Given the description of an element on the screen output the (x, y) to click on. 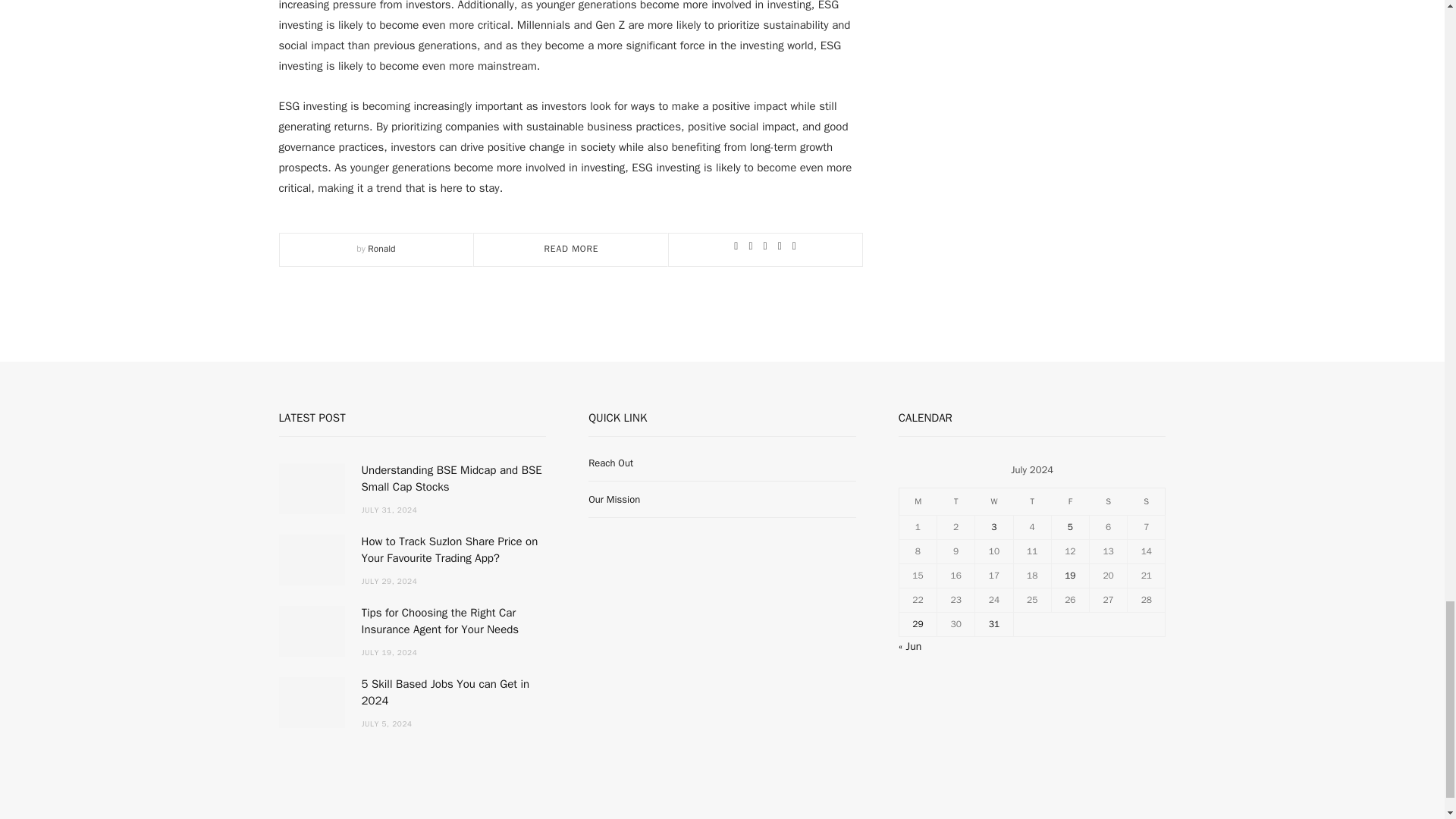
Email (794, 245)
Posts by Ronald (381, 248)
Ronald (381, 248)
5 Skill Based Jobs You can Get in 2024 (312, 702)
READ MORE (571, 248)
Share on Facebook (750, 245)
Share on Twitter (764, 245)
Understanding BSE Midcap and BSE Small Cap Stocks (312, 488)
Pinterest (779, 245)
